Given the description of an element on the screen output the (x, y) to click on. 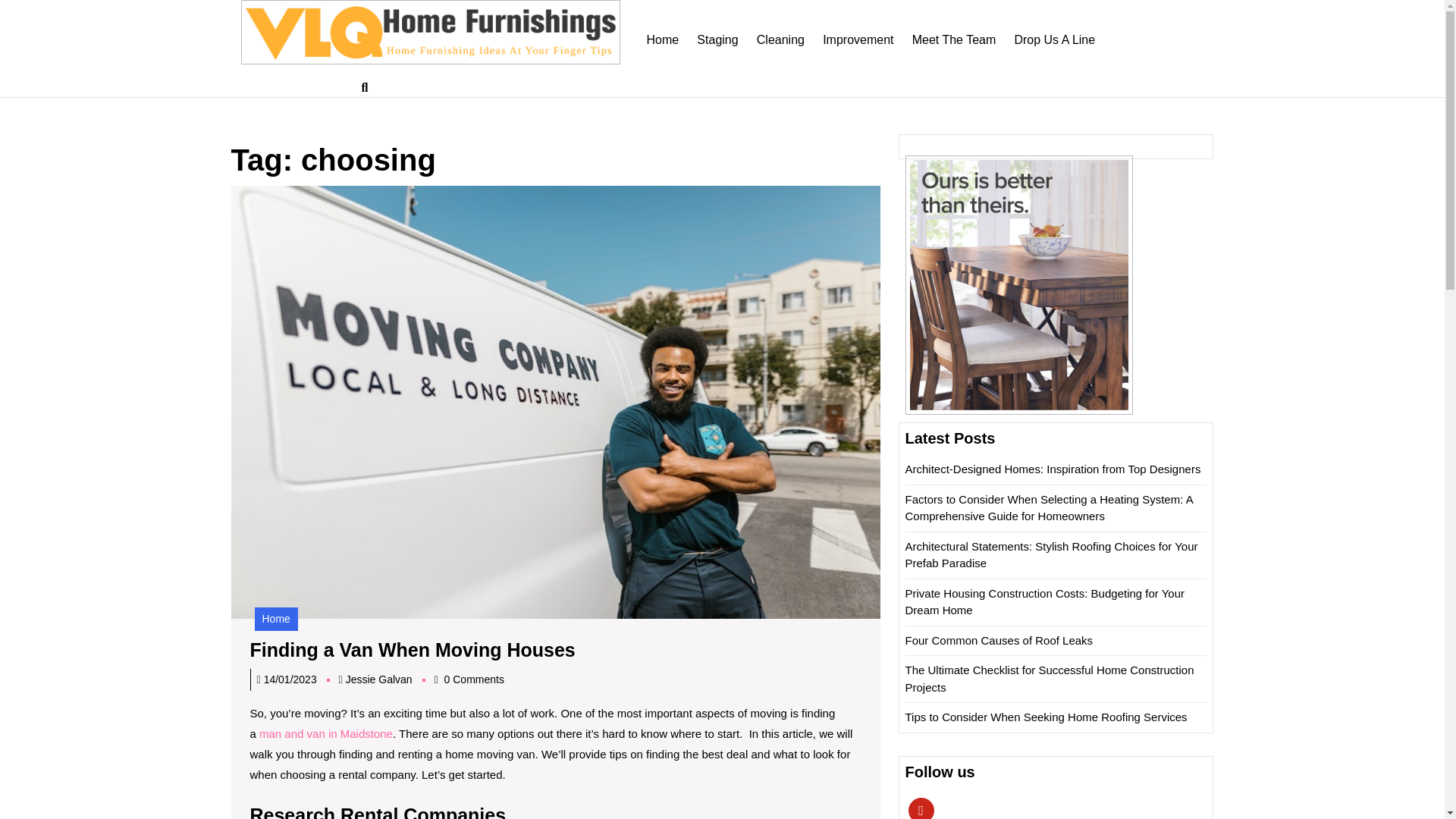
Cleaning (781, 40)
Home (276, 618)
Four Common Causes of Roof Leaks (999, 640)
Staging (717, 40)
pinterest (921, 809)
Improvement (857, 40)
man and van in Maidstone (326, 733)
Tips to Consider When Seeking Home Roofing Services (1046, 716)
Drop Us A Line (1053, 40)
Instagram (379, 679)
Meet The Team (921, 809)
